Given the description of an element on the screen output the (x, y) to click on. 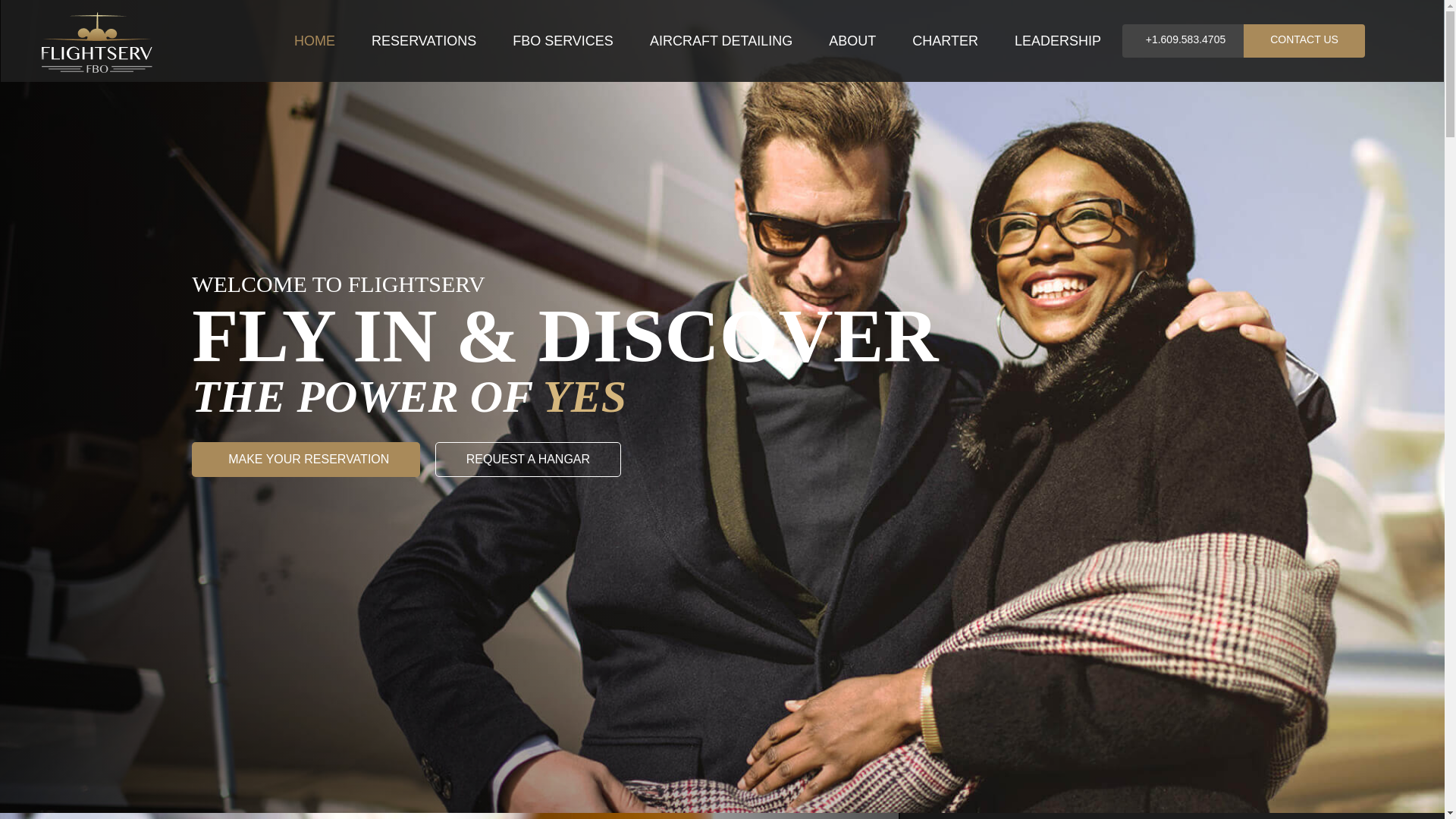
HOME (314, 40)
RESERVATIONS (424, 40)
CHARTER (944, 40)
MAKE YOUR RESERVATION (306, 459)
FBO SERVICES (562, 40)
AIRCRAFT DETAILING (721, 40)
ABOUT (852, 40)
LEADERSHIP (1057, 40)
REQUEST A HANGAR (528, 459)
CONTACT US (1304, 40)
